Given the description of an element on the screen output the (x, y) to click on. 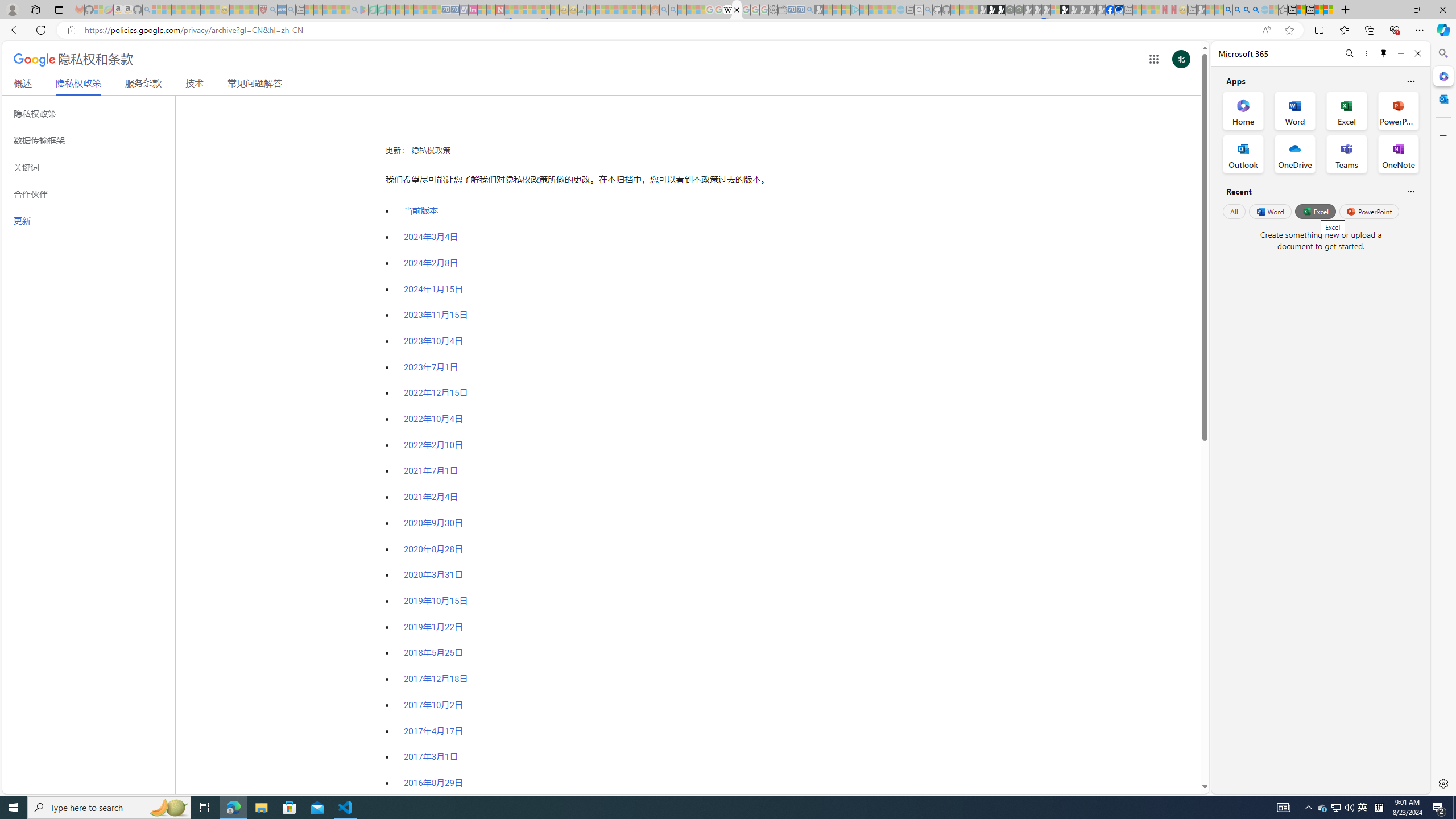
Nordace | Facebook (1109, 9)
Word Office App (1295, 110)
Bing Real Estate - Home sales and rental listings - Sleeping (809, 9)
